Given the description of an element on the screen output the (x, y) to click on. 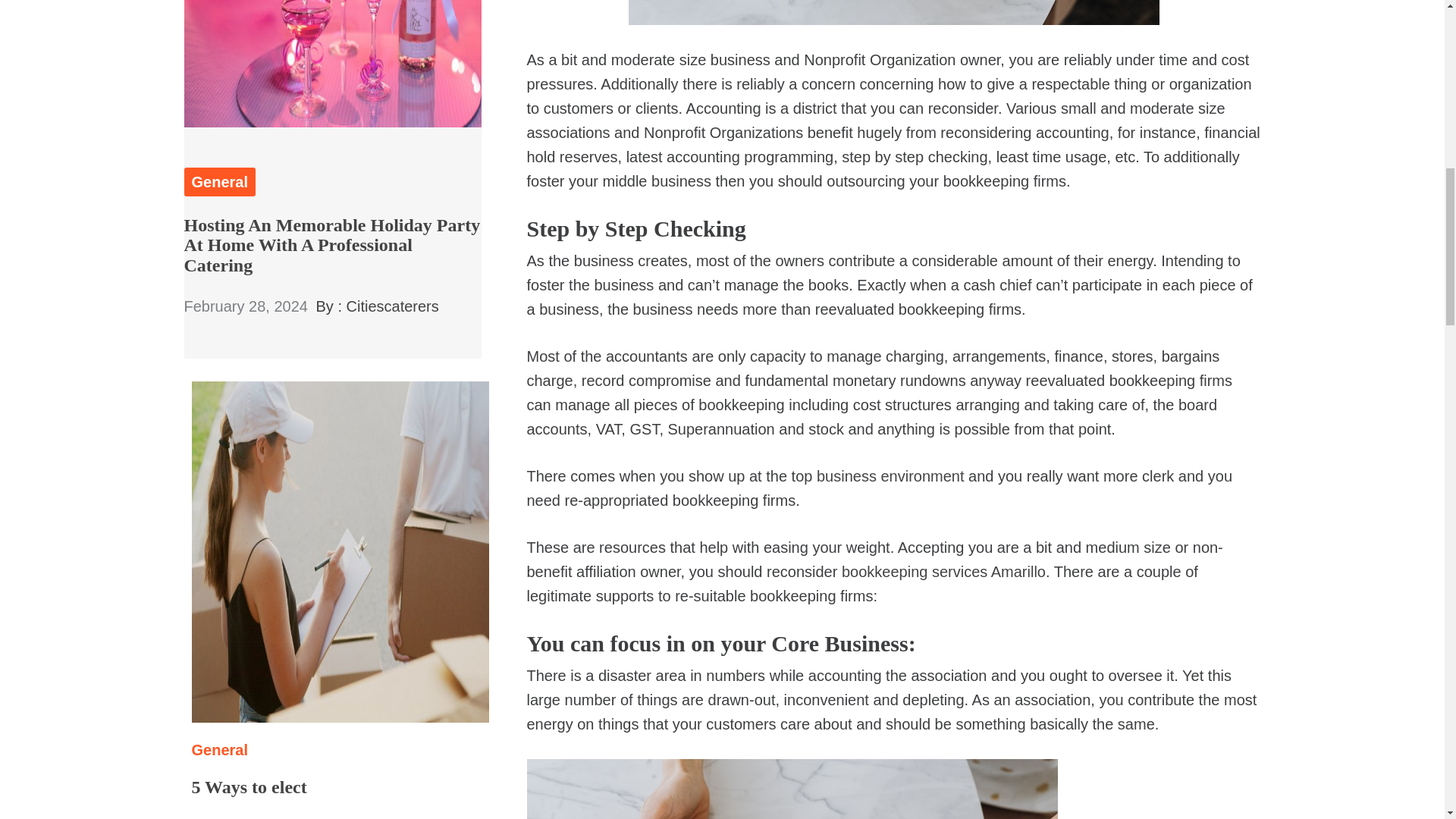
business environment (889, 475)
General (218, 181)
bookkeeping services Amarillo (943, 571)
February 28, 2024 (245, 306)
General (219, 750)
Citiescaterers (392, 306)
5 Ways to elect (247, 786)
